Given the description of an element on the screen output the (x, y) to click on. 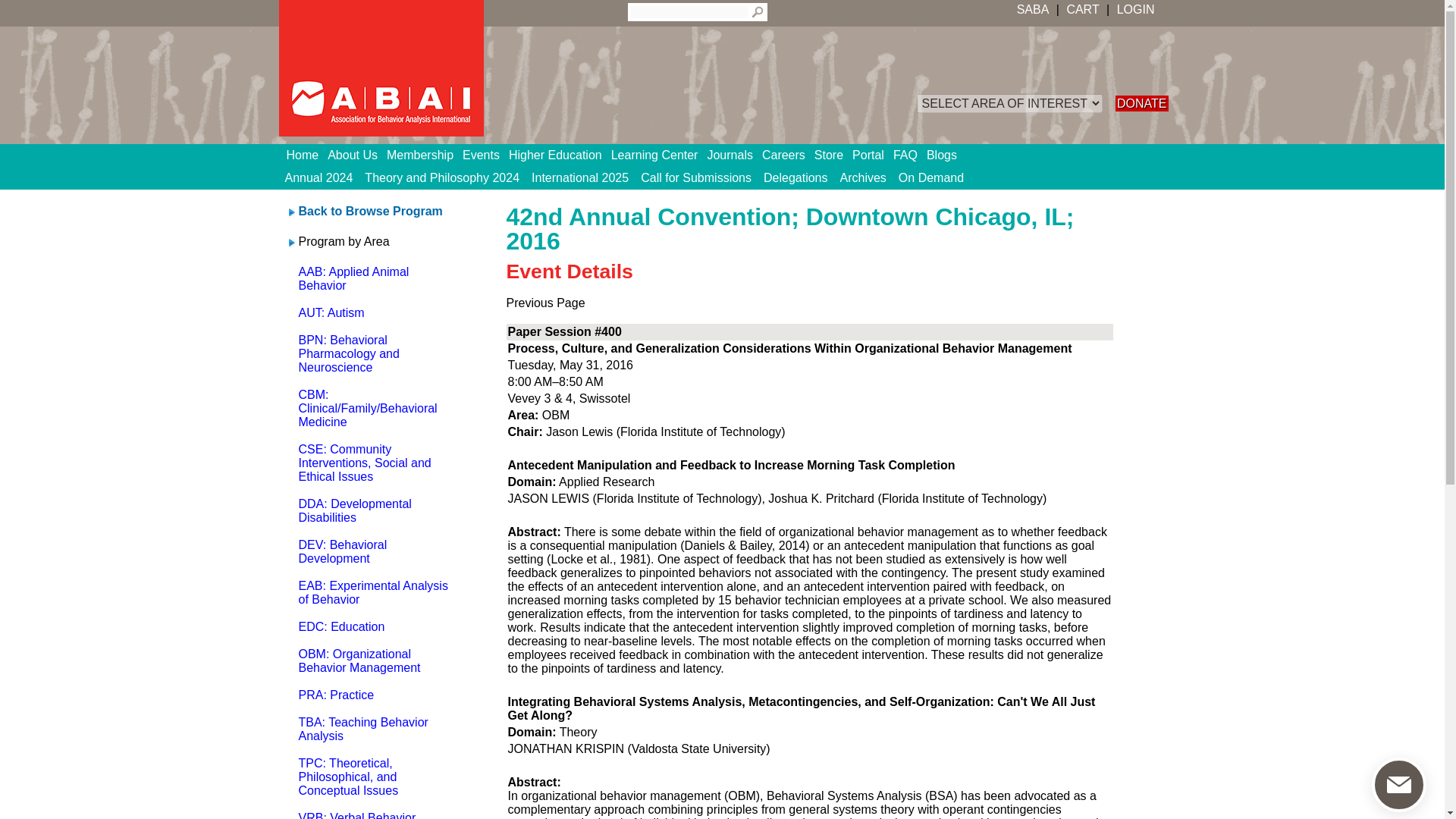
Portal (872, 155)
Blogs (946, 155)
Store (832, 155)
Careers (787, 155)
On Demand (930, 178)
SABA (1032, 9)
Learning Center (659, 155)
Theory and Philosophy 2024 (441, 178)
Back to search (370, 210)
International 2025 (579, 178)
Journals (733, 155)
Call for Submissions (695, 178)
Back to Browse Program (370, 210)
FAQ (909, 155)
Home (307, 155)
